Given the description of an element on the screen output the (x, y) to click on. 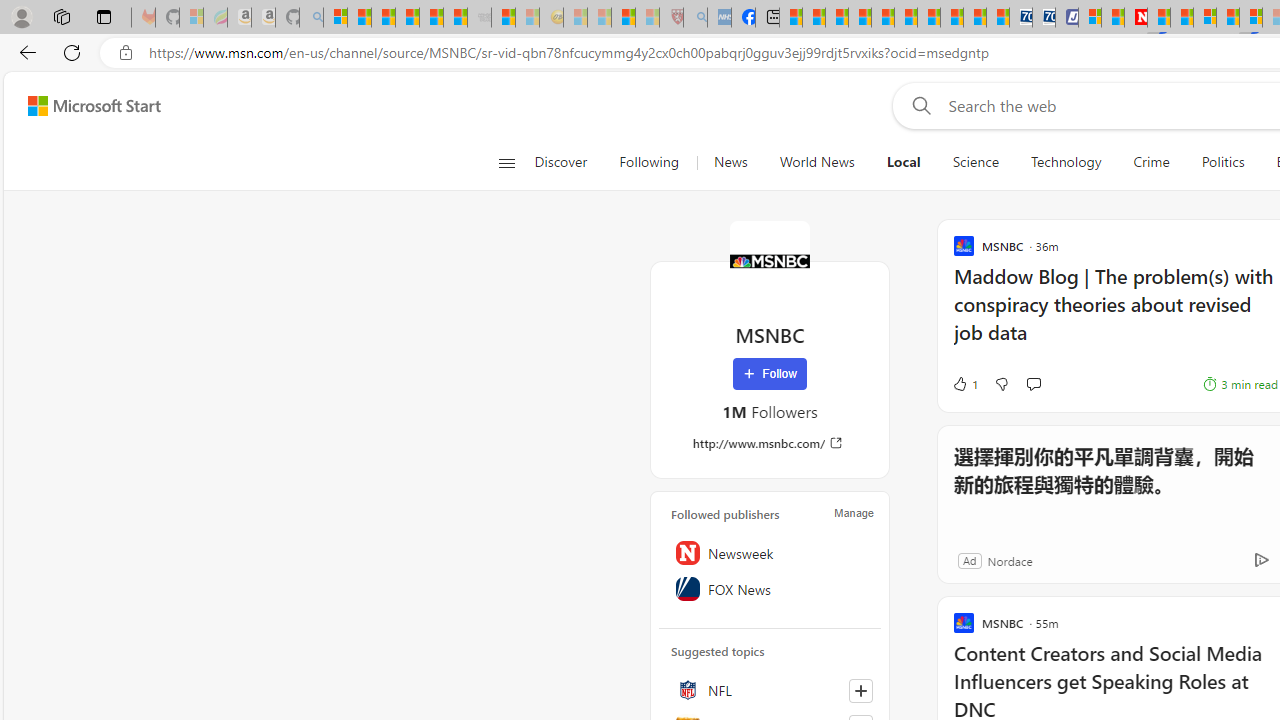
1 Like (964, 384)
